Given the description of an element on the screen output the (x, y) to click on. 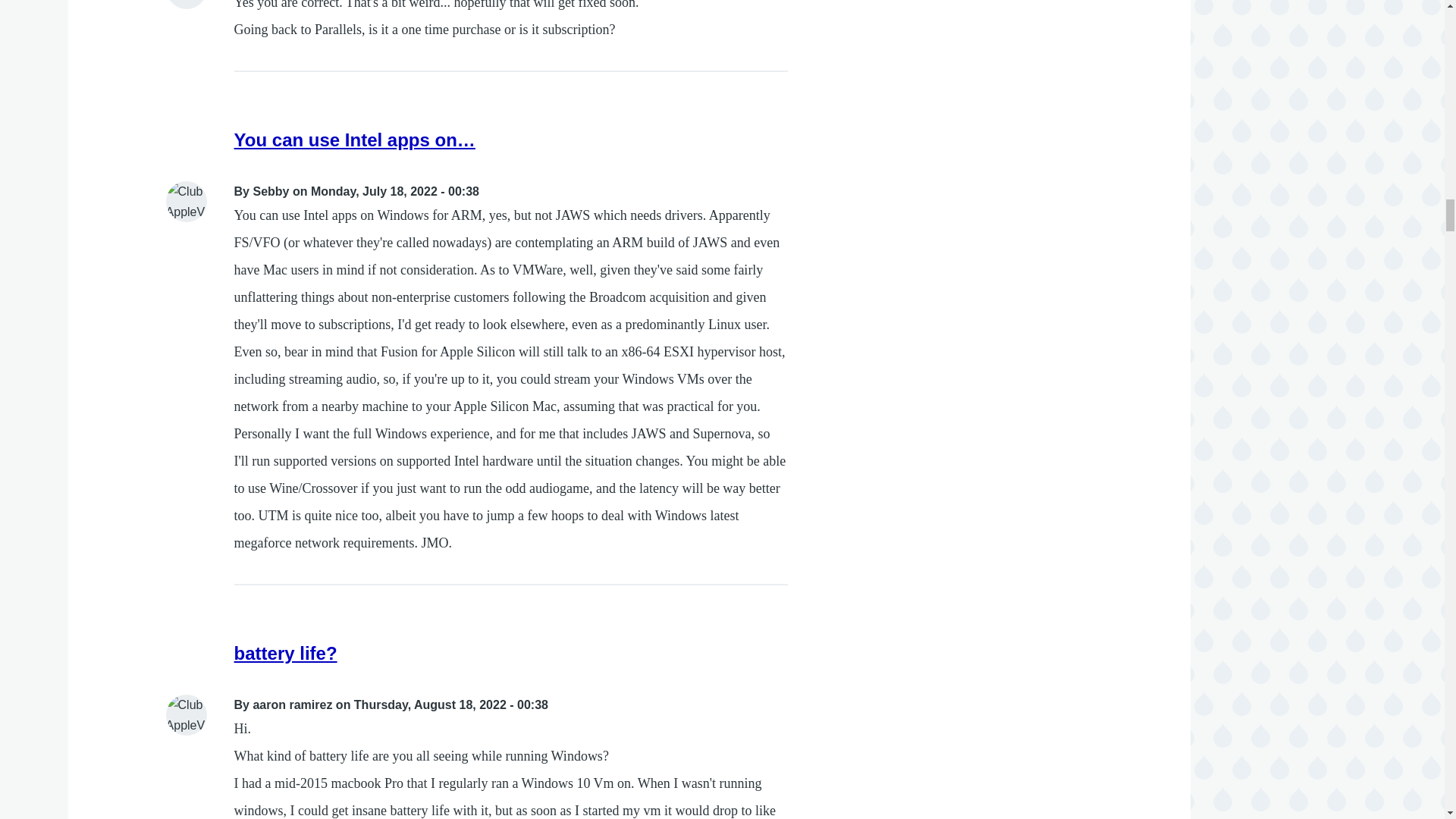
battery life? (285, 652)
